Given the description of an element on the screen output the (x, y) to click on. 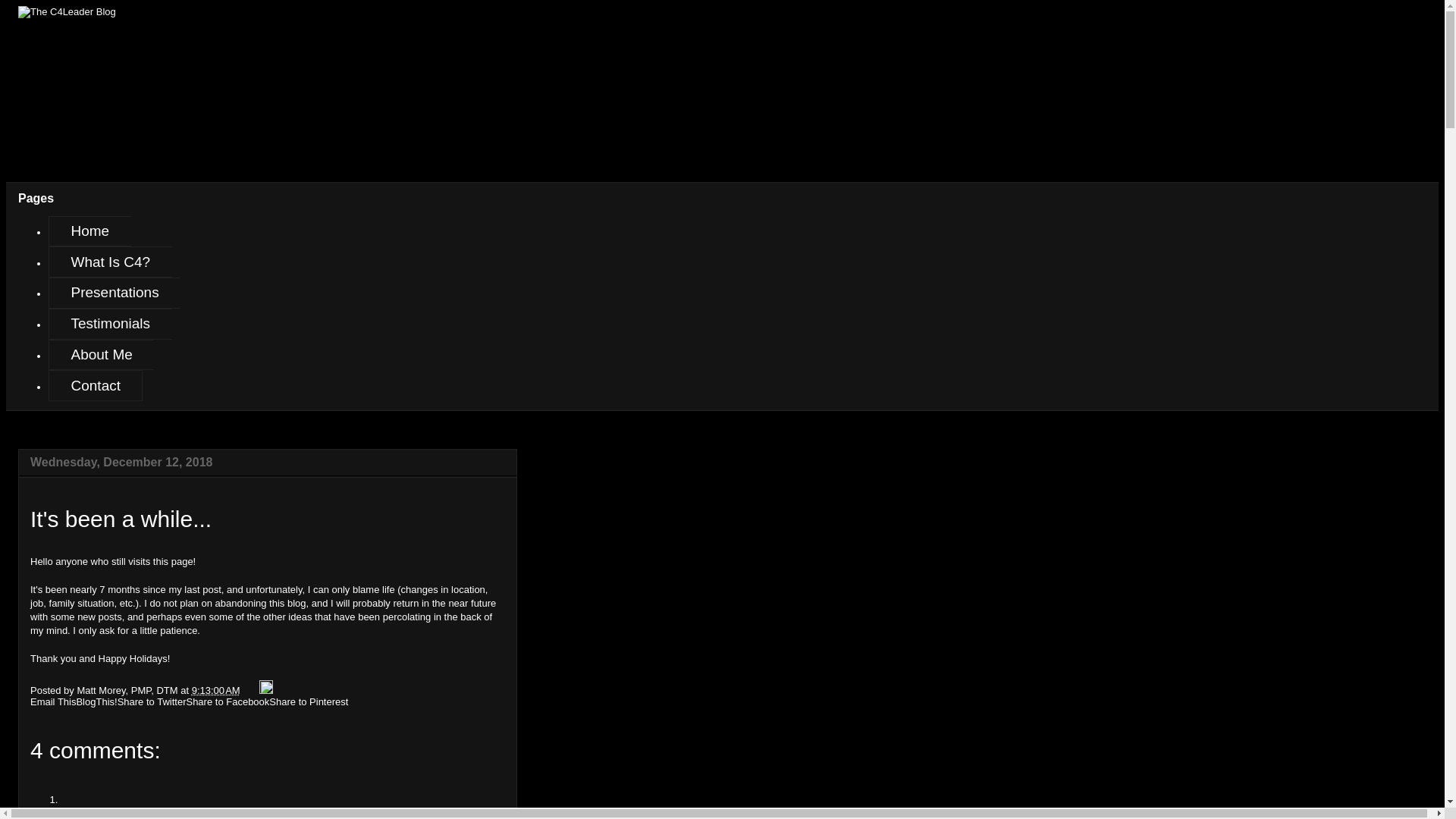
About Me (101, 355)
Email Post (251, 690)
Share to Facebook (227, 701)
What Is C4? (109, 261)
Email This (52, 701)
Home (89, 231)
Share to Twitter (151, 701)
Edit Post (266, 690)
Share to Twitter (151, 701)
Testimonials (109, 323)
permanent link (216, 690)
Contact (95, 385)
Email This (52, 701)
author profile (128, 690)
BlogThis! (95, 701)
